Given the description of an element on the screen output the (x, y) to click on. 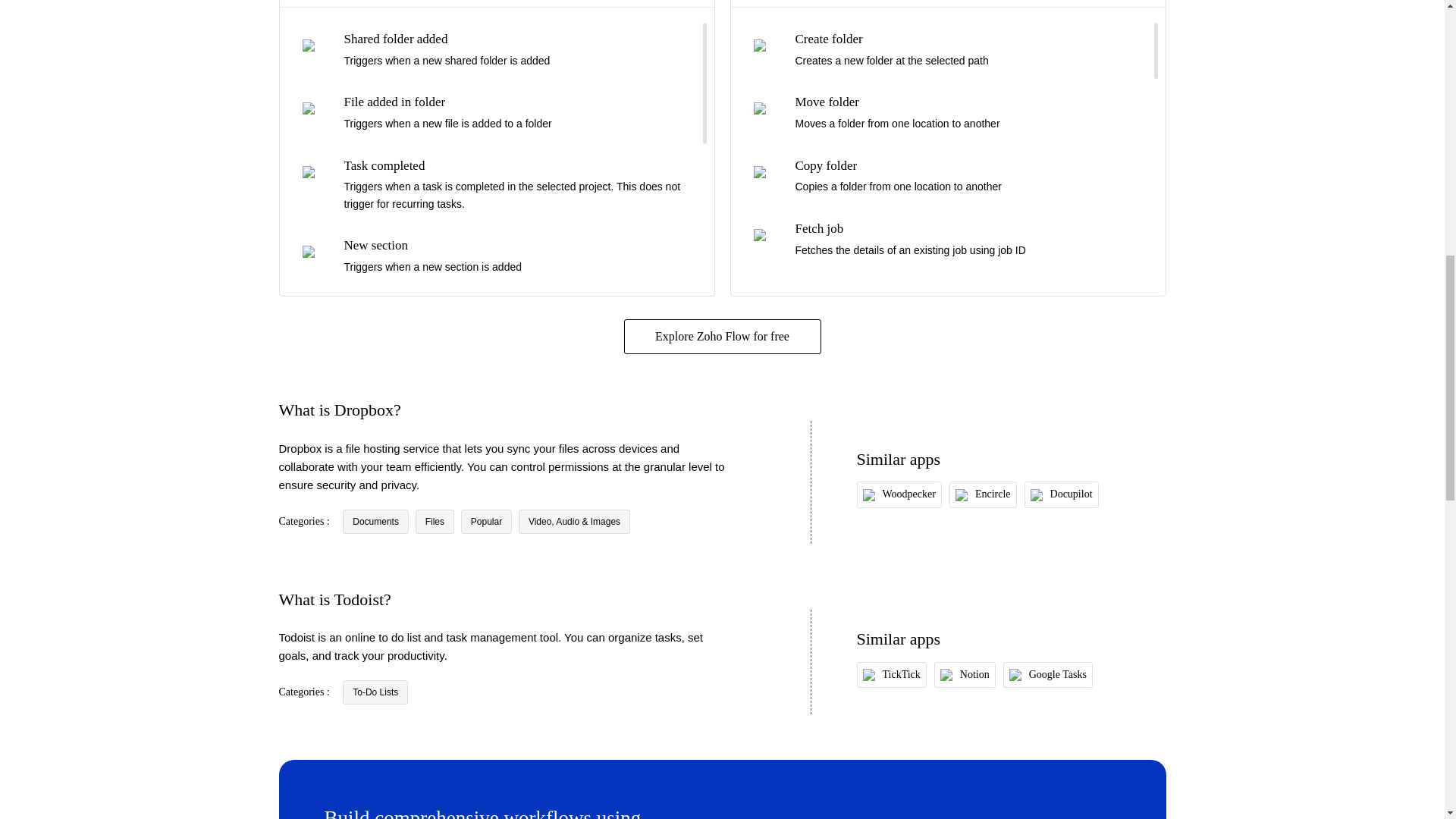
Explore Zoho Flow for free (722, 336)
To-Do Lists (374, 692)
Docupilot (1061, 494)
Woodpecker (898, 494)
TickTick (890, 674)
Google Tasks (1048, 674)
Notion (964, 674)
Files (434, 521)
Documents (375, 521)
Popular (486, 521)
